Given the description of an element on the screen output the (x, y) to click on. 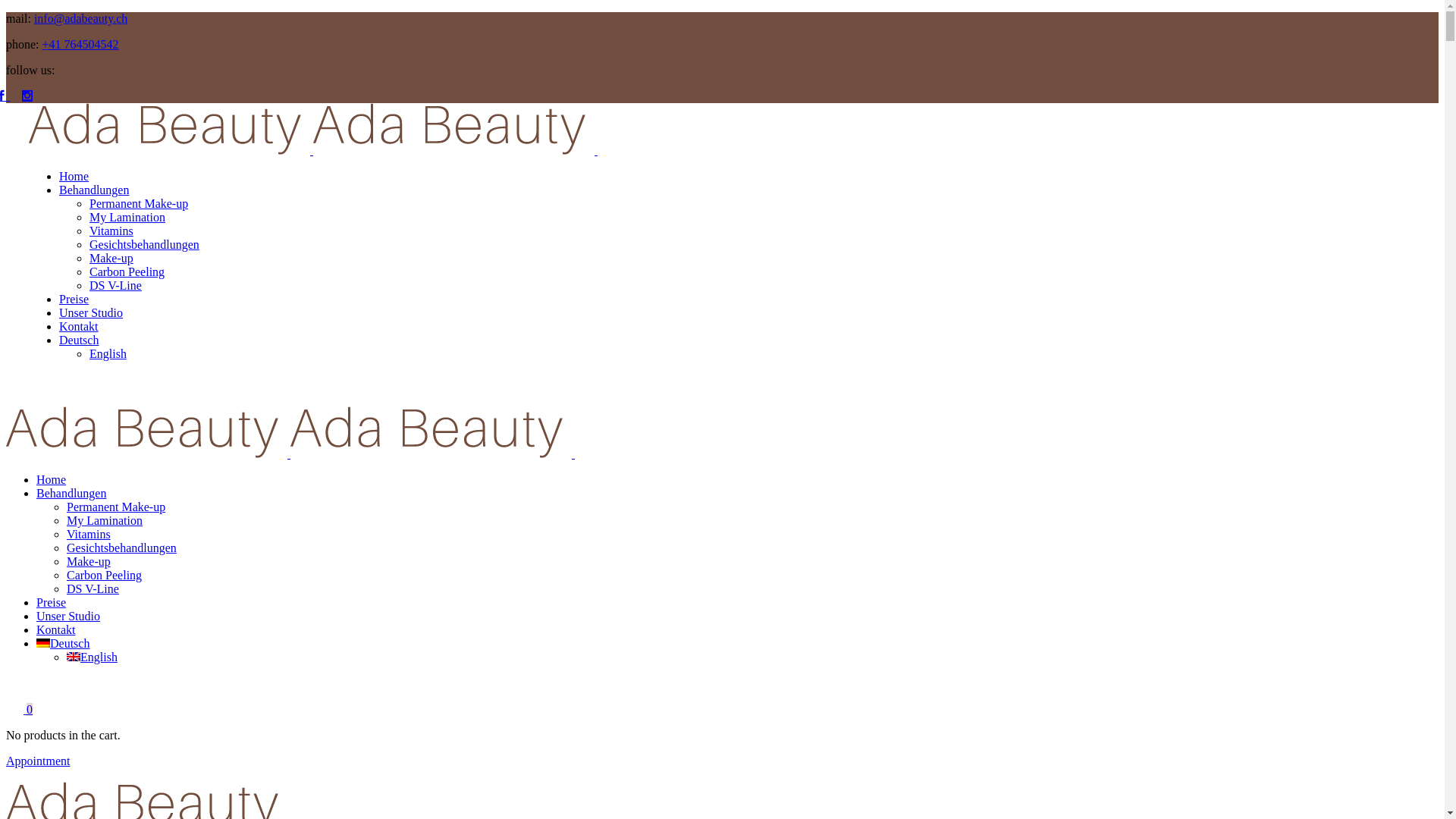
Vitamins Element type: text (111, 230)
Make-up Element type: text (88, 561)
Kontakt Element type: text (78, 326)
Appointment Element type: text (60, 398)
Deutsch Element type: text (62, 643)
Behandlungen Element type: text (71, 492)
Deutsch Element type: text (78, 339)
Unser Studio Element type: text (68, 615)
0 Element type: text (19, 708)
My Lamination Element type: text (104, 520)
DS V-Line Element type: text (92, 588)
+41 764504542 Element type: text (80, 43)
Home Element type: text (50, 479)
Home Element type: text (73, 175)
Carbon Peeling Element type: text (103, 574)
Gesichtsbehandlungen Element type: text (121, 547)
English Element type: text (107, 353)
Behandlungen Element type: text (93, 189)
Make-up Element type: text (111, 257)
Carbon Peeling Element type: text (126, 271)
Unser Studio Element type: text (90, 312)
My Lamination Element type: text (127, 216)
Gesichtsbehandlungen Element type: text (144, 244)
Appointment Element type: text (37, 760)
DS V-Line Element type: text (115, 285)
Permanent Make-up Element type: text (115, 506)
Preise Element type: text (73, 298)
Kontakt Element type: text (55, 629)
Permanent Make-up Element type: text (138, 203)
Preise Element type: text (50, 602)
info@adabeauty.ch Element type: text (80, 18)
English Element type: text (91, 656)
Vitamins Element type: text (88, 533)
